Given the description of an element on the screen output the (x, y) to click on. 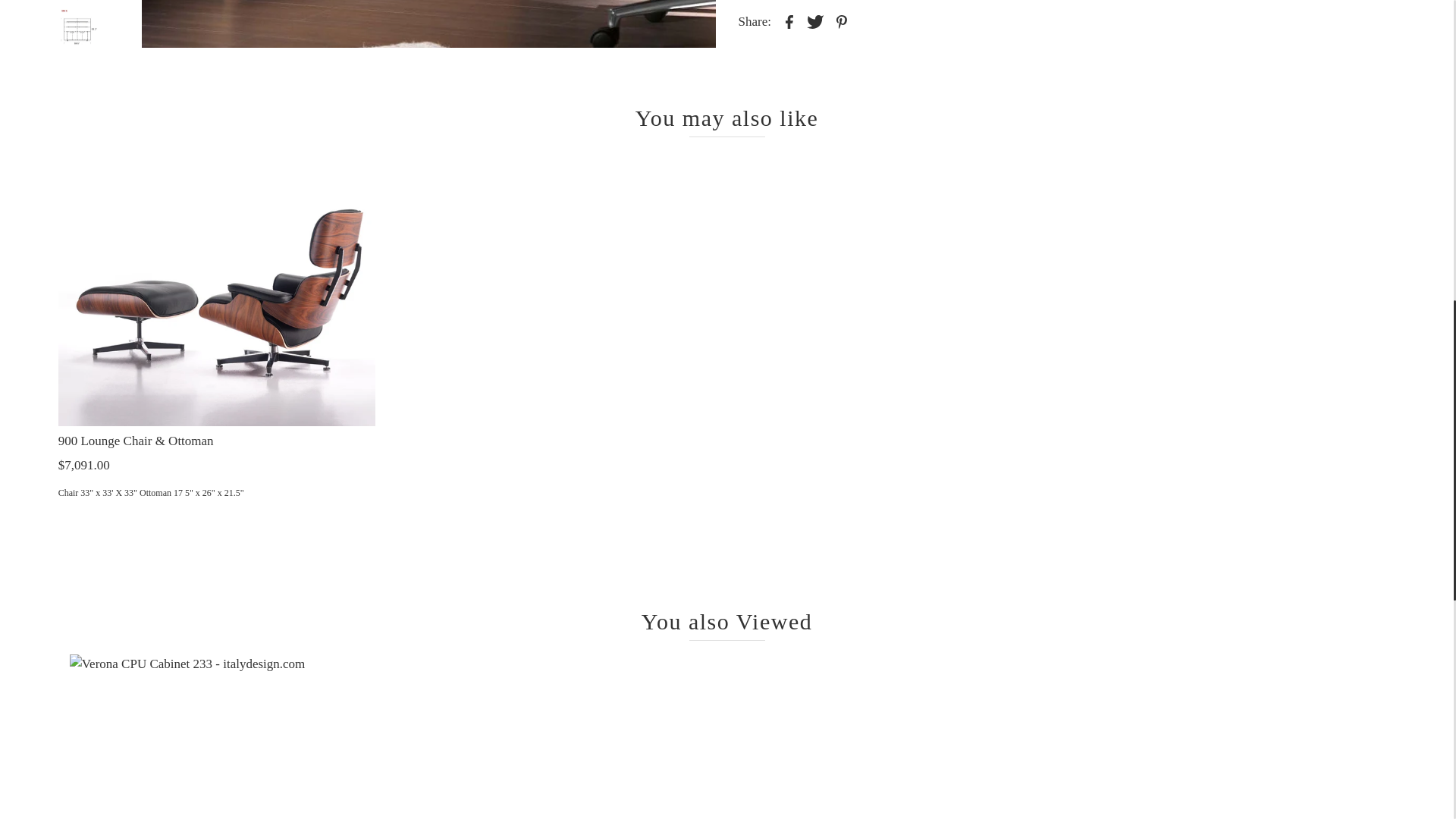
Share on Pinterest (841, 20)
Share on Facebook (788, 20)
Verona CPU Cabinet 233 (225, 736)
Share on Twitter (815, 20)
